Given the description of an element on the screen output the (x, y) to click on. 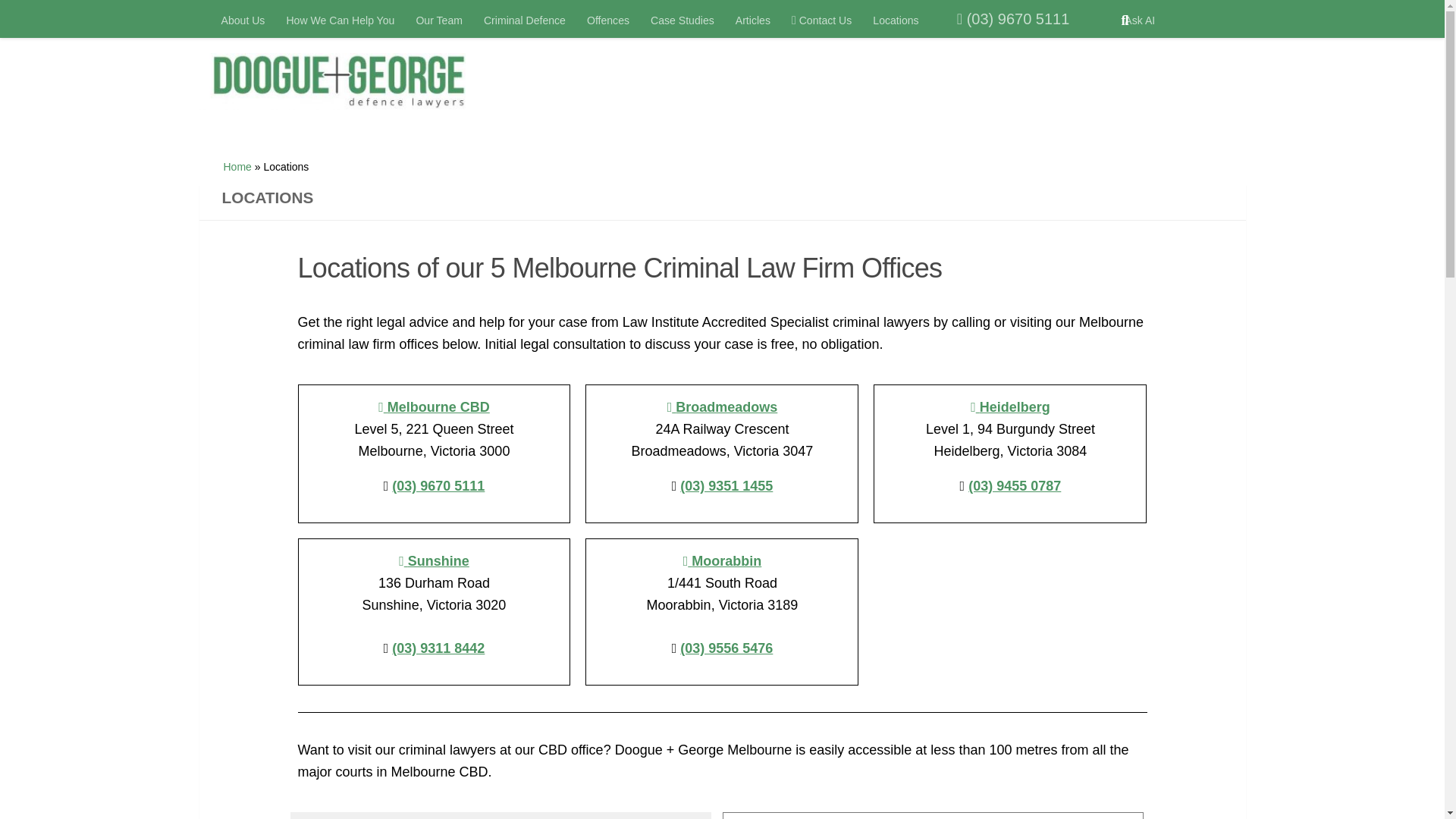
Articles (752, 20)
Moorabbin (721, 560)
Home (236, 166)
Case Studies (682, 20)
Ask AI (1139, 20)
Broadmeadows (721, 406)
Contact Us (820, 20)
Melbourne CBD (433, 406)
Locations (894, 20)
Criminal Defence (524, 20)
Sunshine (433, 560)
Offences (608, 20)
About Us (243, 20)
How We Can Help You (339, 20)
Heidelberg (1010, 406)
